Given the description of an element on the screen output the (x, y) to click on. 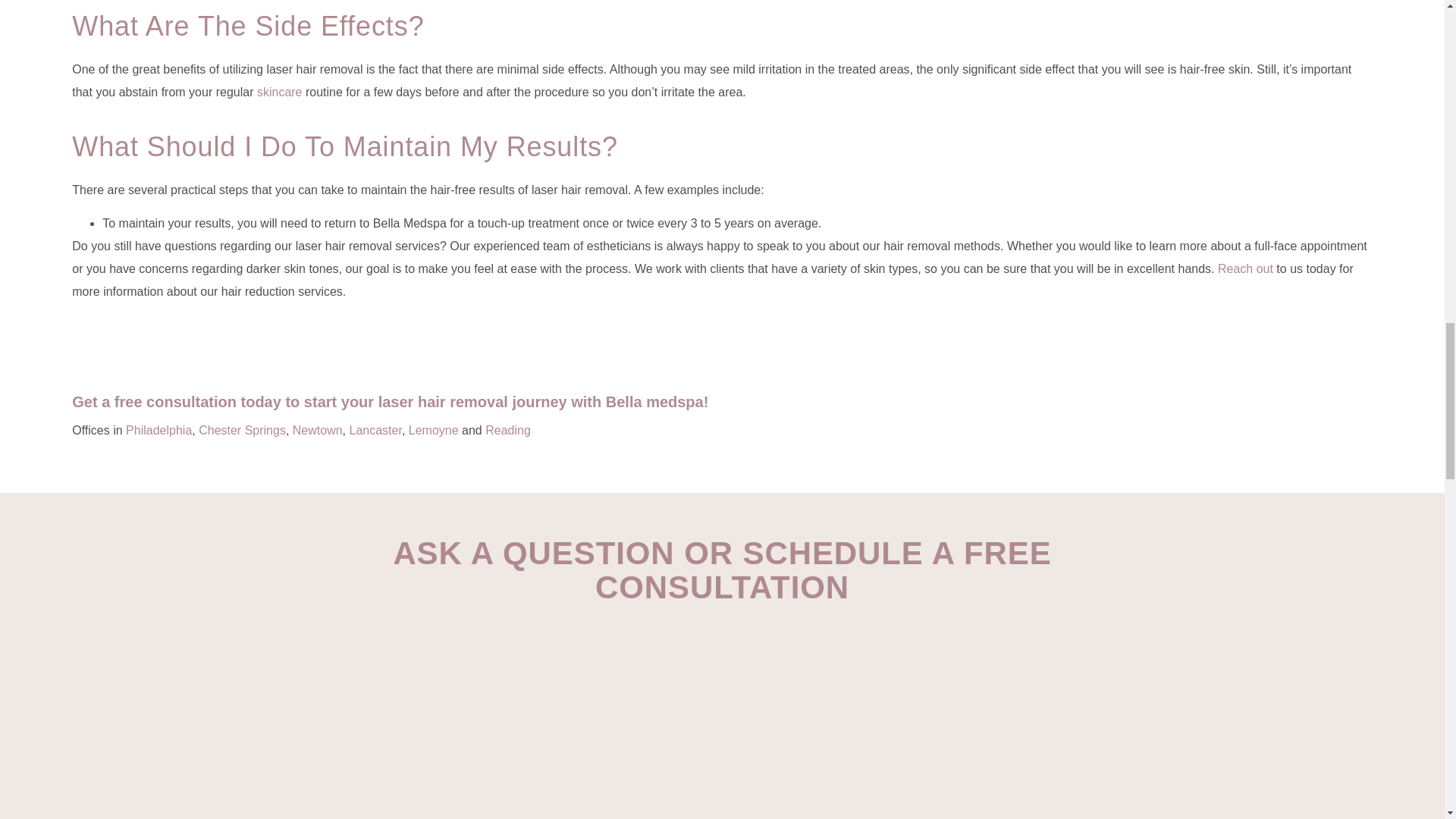
Review (721, 719)
